Given the description of an element on the screen output the (x, y) to click on. 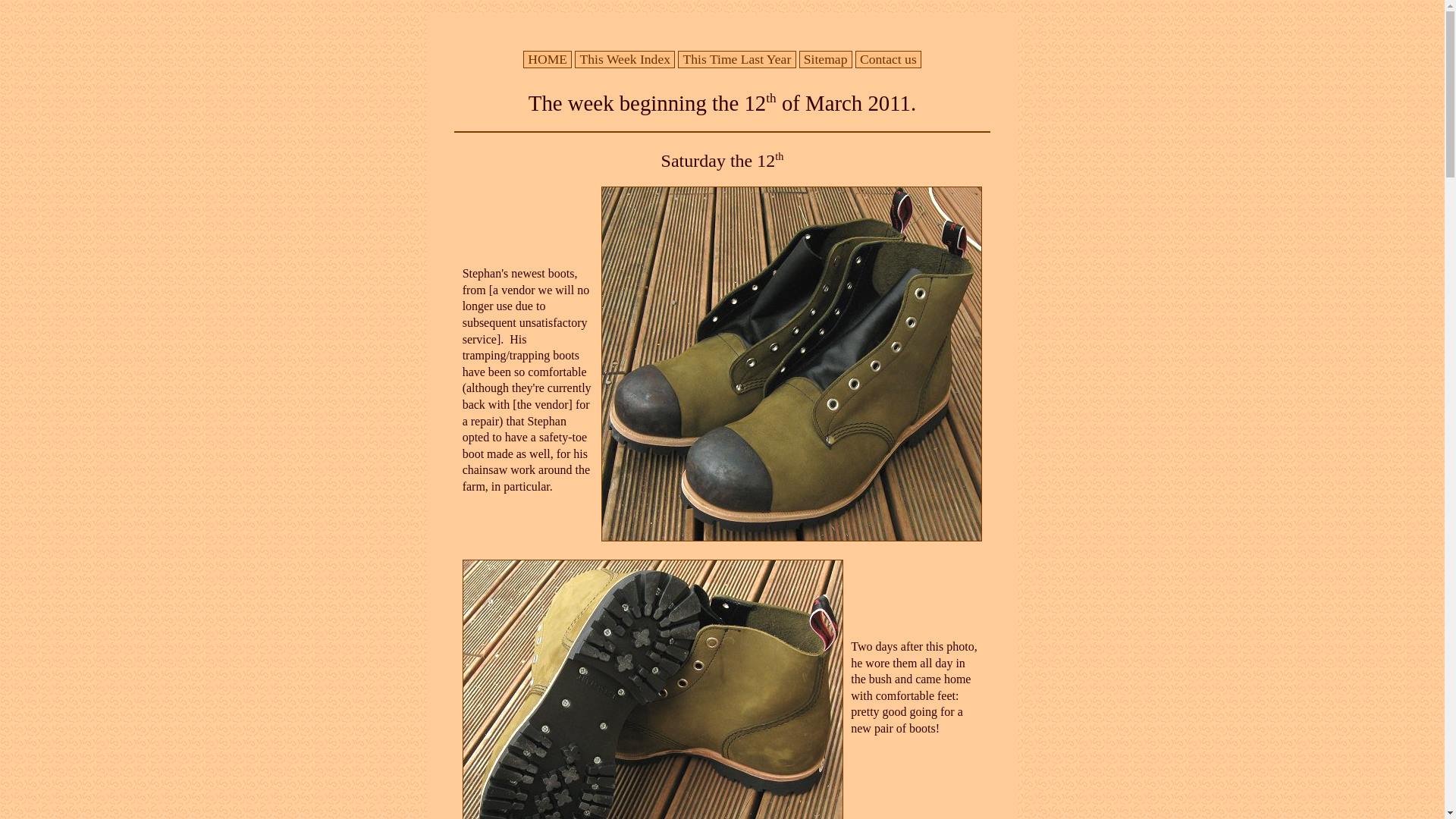
A map of how things connect within this site. (825, 58)
Contact us (888, 58)
HOME (547, 58)
Index of all updates. (624, 58)
Sitemap (825, 58)
This Time Last Year (736, 58)
This Week Index (624, 58)
Back to the Home page. (547, 58)
What was happening this time last year? (736, 58)
